Given the description of an element on the screen output the (x, y) to click on. 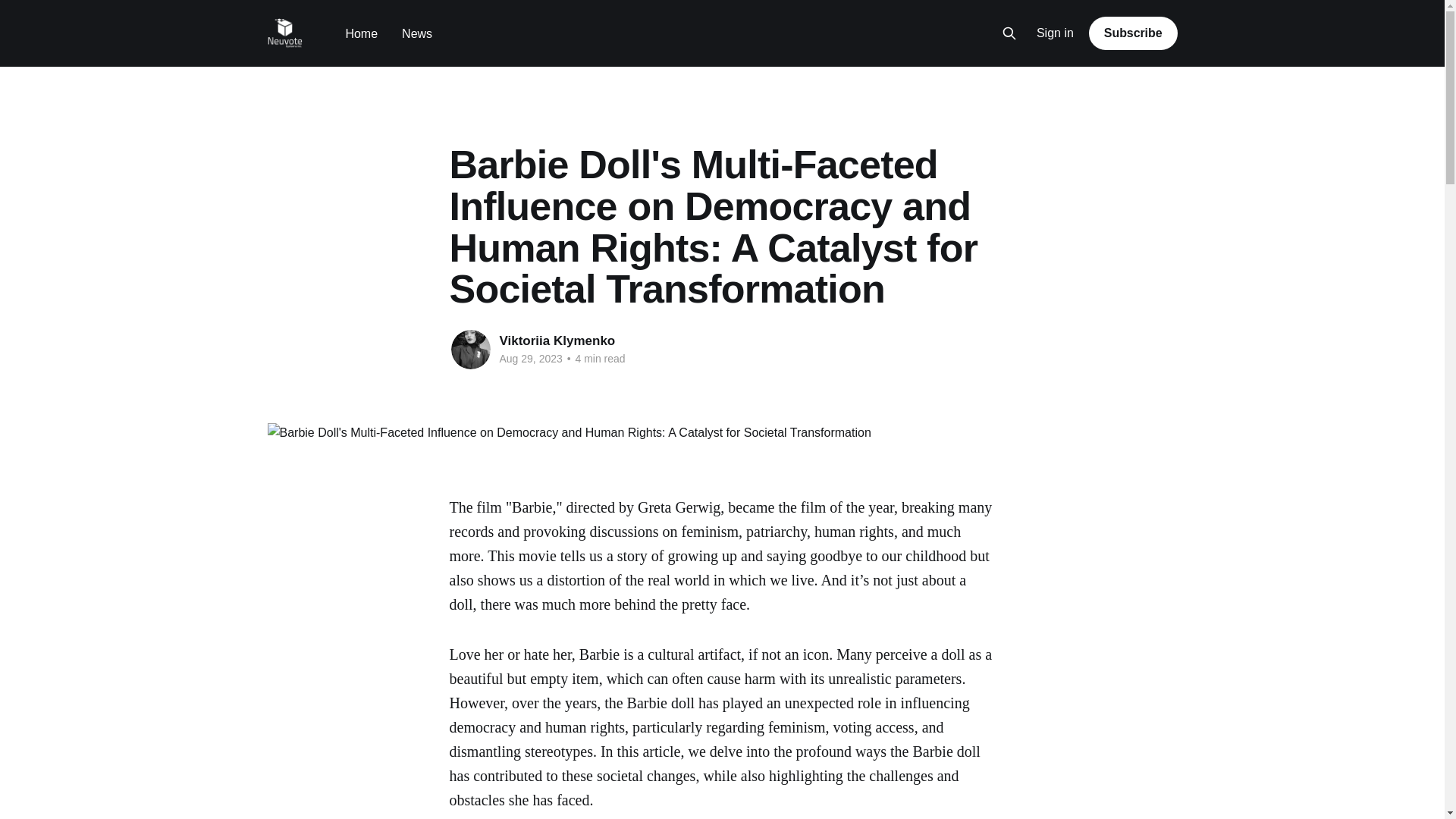
News (416, 33)
Home (361, 33)
Subscribe (1133, 32)
Viktoriia Klymenko (556, 340)
Sign in (1055, 33)
